Given the description of an element on the screen output the (x, y) to click on. 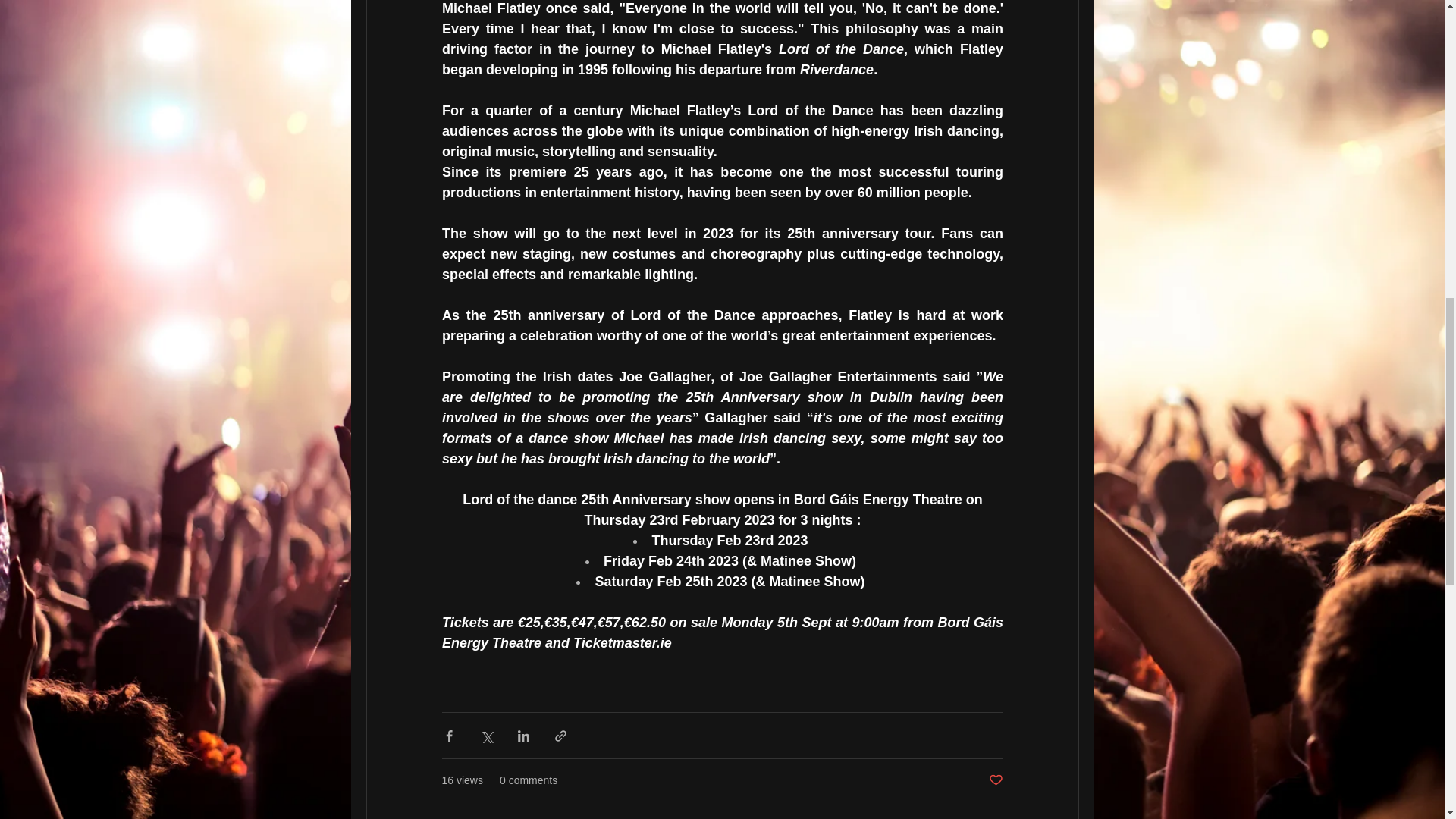
Post not marked as liked (995, 780)
Michael Flatley's  (719, 48)
Lord of the Dance (841, 48)
